Given the description of an element on the screen output the (x, y) to click on. 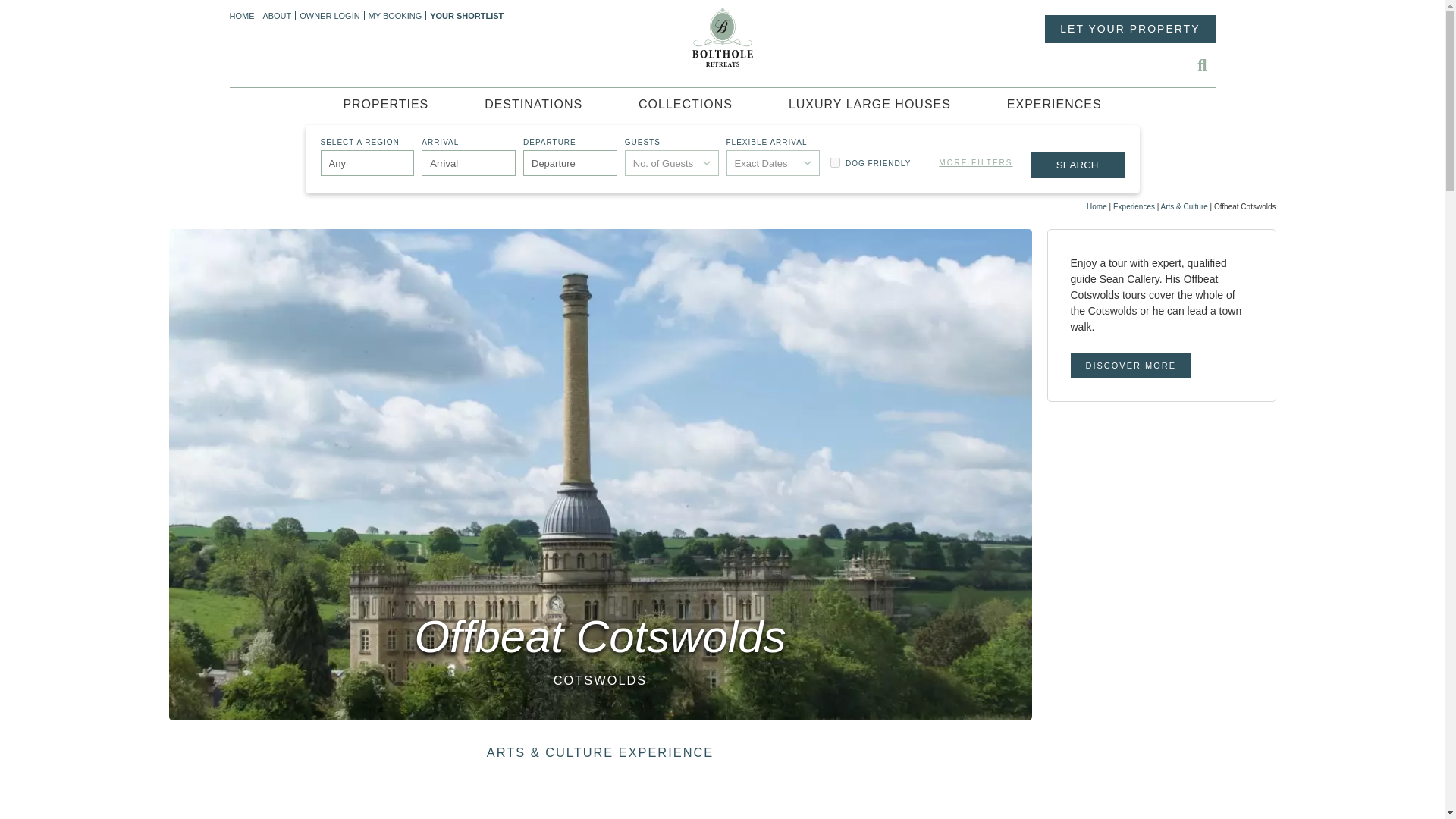
MY BOOKING (397, 15)
Search (1077, 164)
HOME (243, 15)
Bolthole Retreats (721, 36)
DESTINATIONS (533, 106)
YOUR SHORTLIST (467, 15)
ABOUT (278, 15)
PROPERTIES (384, 106)
OWNER LOGIN (331, 15)
243252 (834, 162)
